Given the description of an element on the screen output the (x, y) to click on. 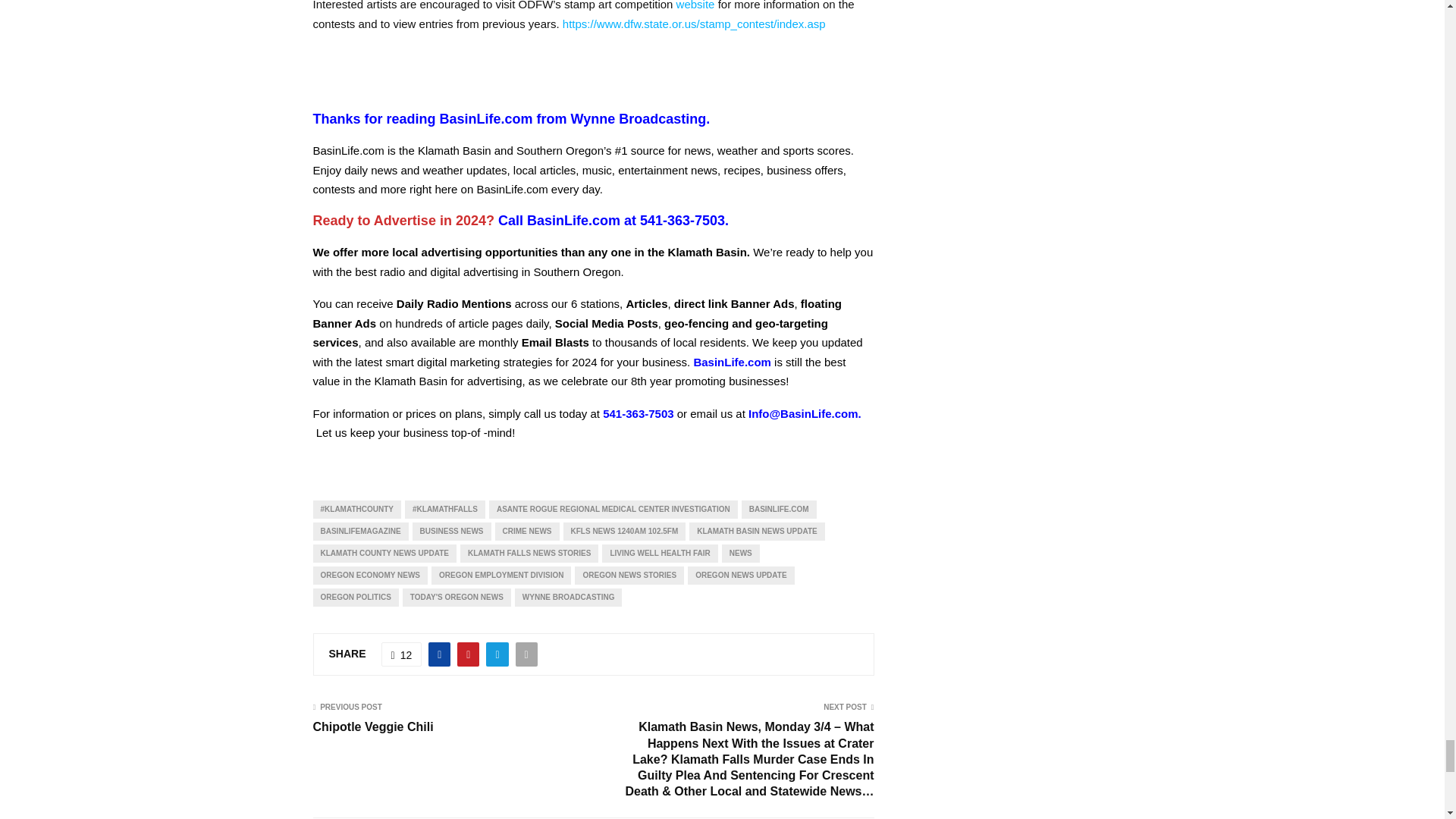
Like (401, 654)
